Given the description of an element on the screen output the (x, y) to click on. 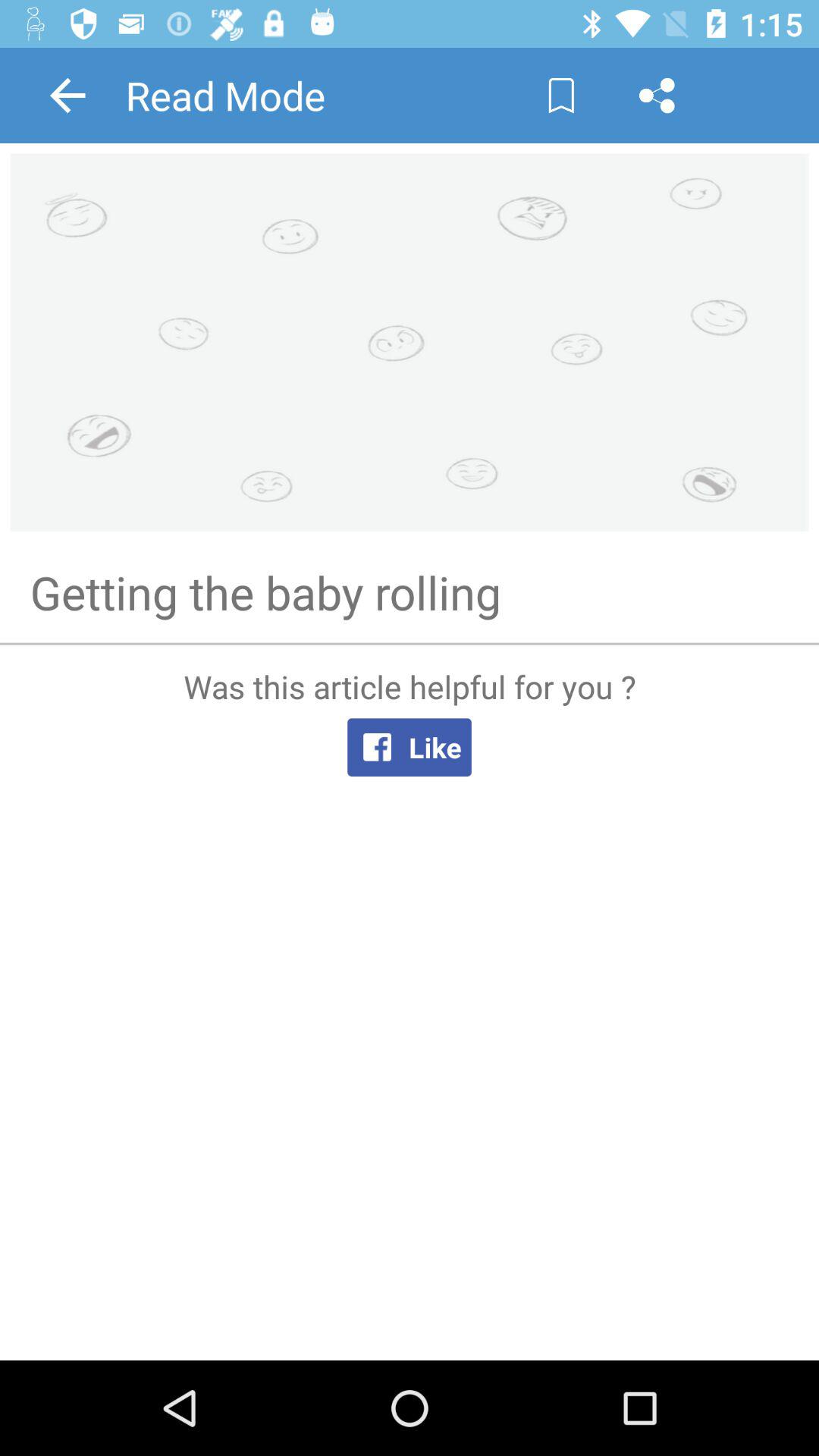
like the article (409, 1001)
